Given the description of an element on the screen output the (x, y) to click on. 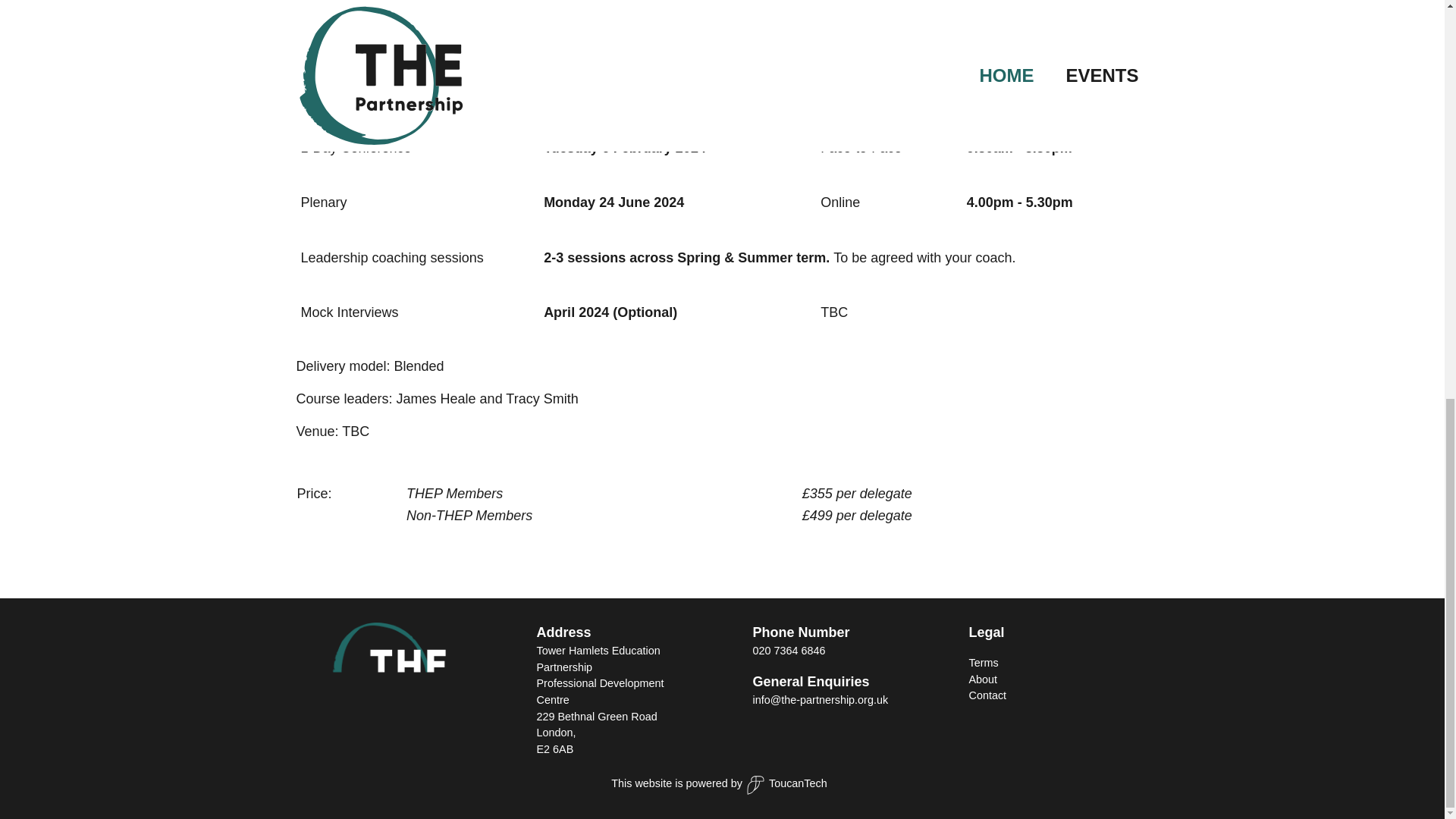
ToucanTech (784, 784)
Terms (983, 662)
Contact (988, 695)
About (983, 679)
